Given the description of an element on the screen output the (x, y) to click on. 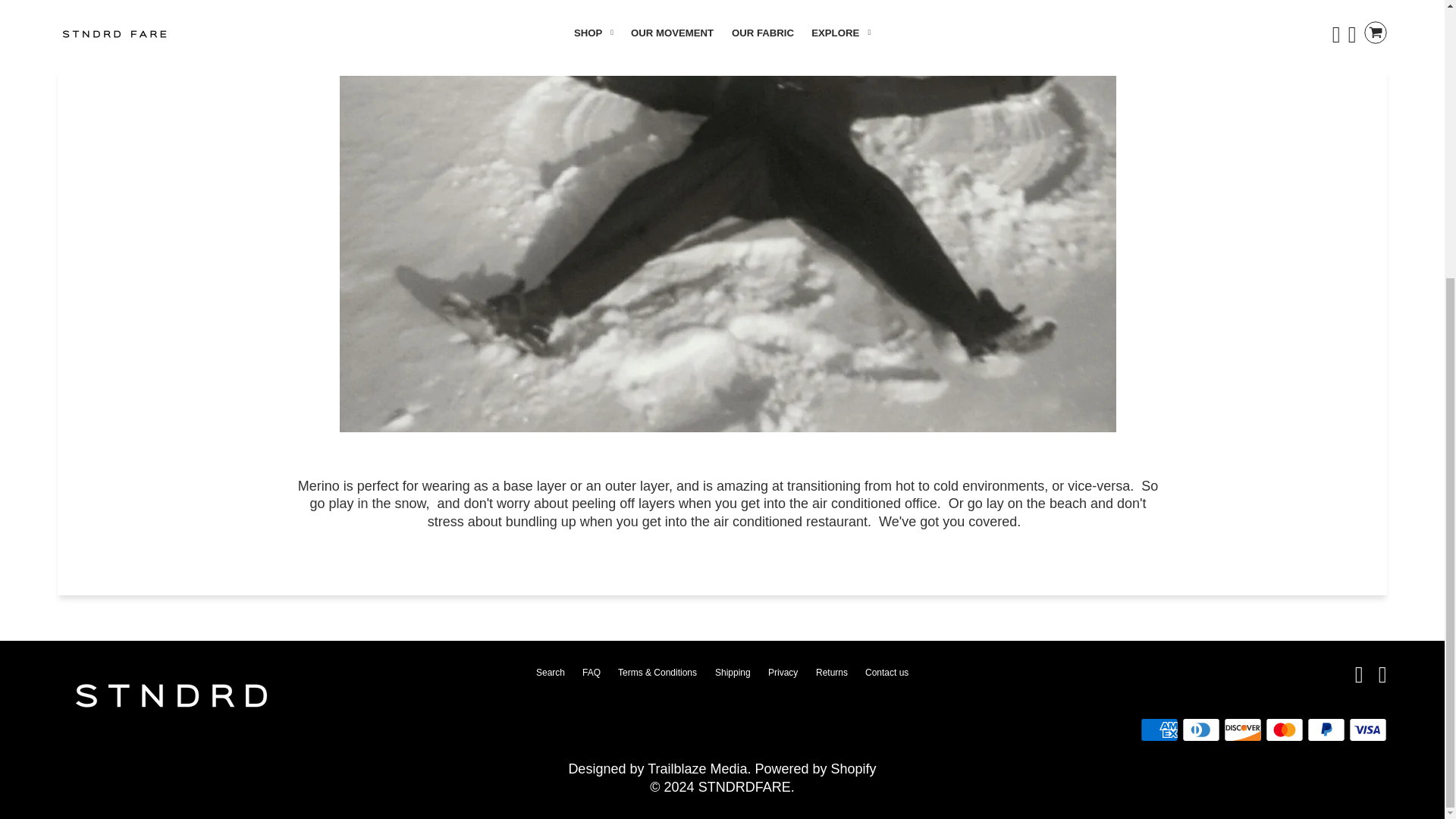
Mastercard (1284, 729)
TrailblazeMedia.com (696, 768)
PayPal (1326, 729)
Visa (1368, 729)
Diners Club (1201, 729)
Discover (1243, 729)
American Express (1158, 729)
